Given the description of an element on the screen output the (x, y) to click on. 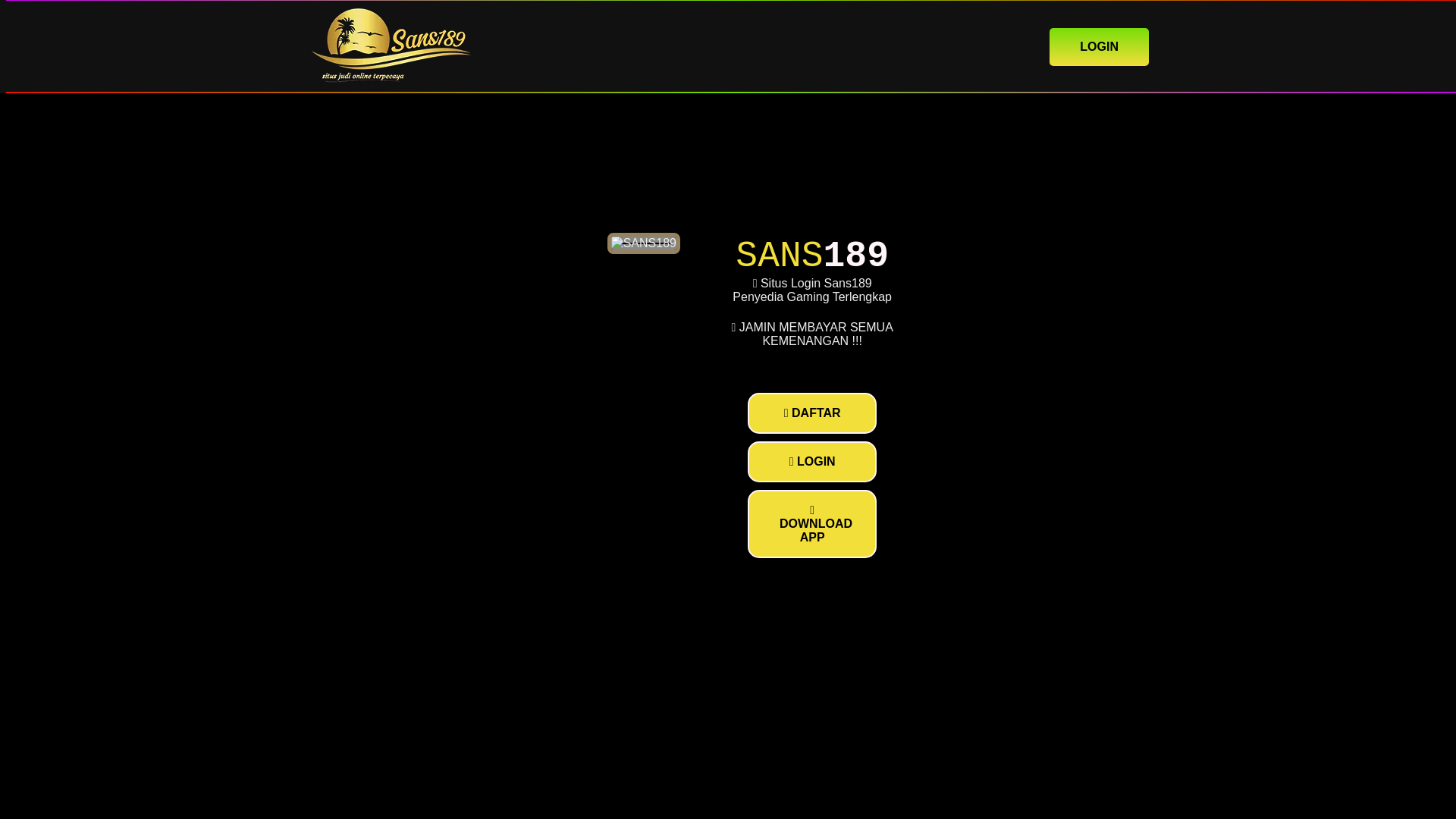
DOWNLOAD APP (812, 523)
LOGIN (812, 461)
DAFTAR (812, 413)
LOGIN (1098, 46)
